Given the description of an element on the screen output the (x, y) to click on. 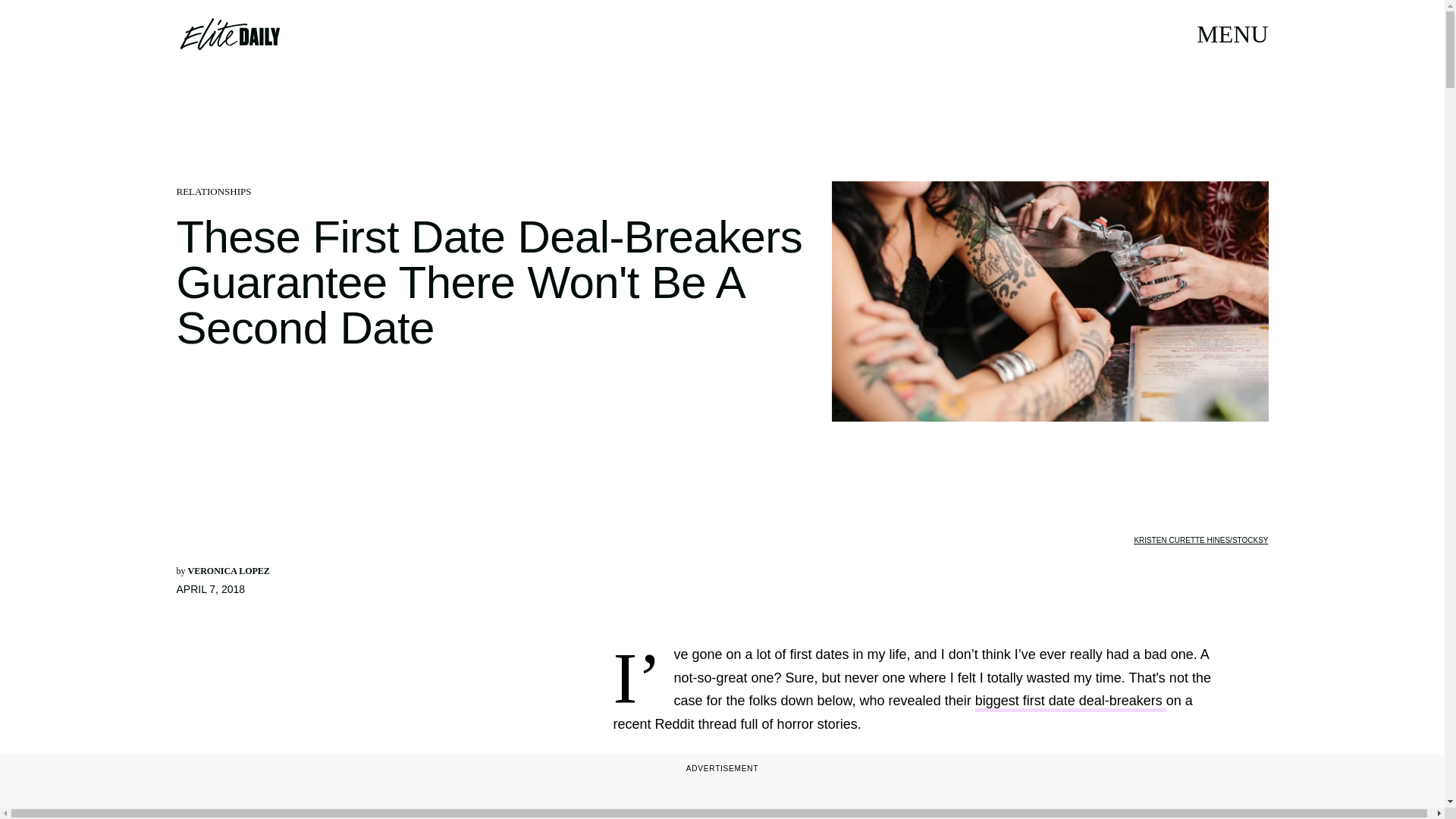
Elite Daily (229, 33)
biggest first date deal-breakers (1070, 701)
VERONICA LOPEZ (228, 570)
